Given the description of an element on the screen output the (x, y) to click on. 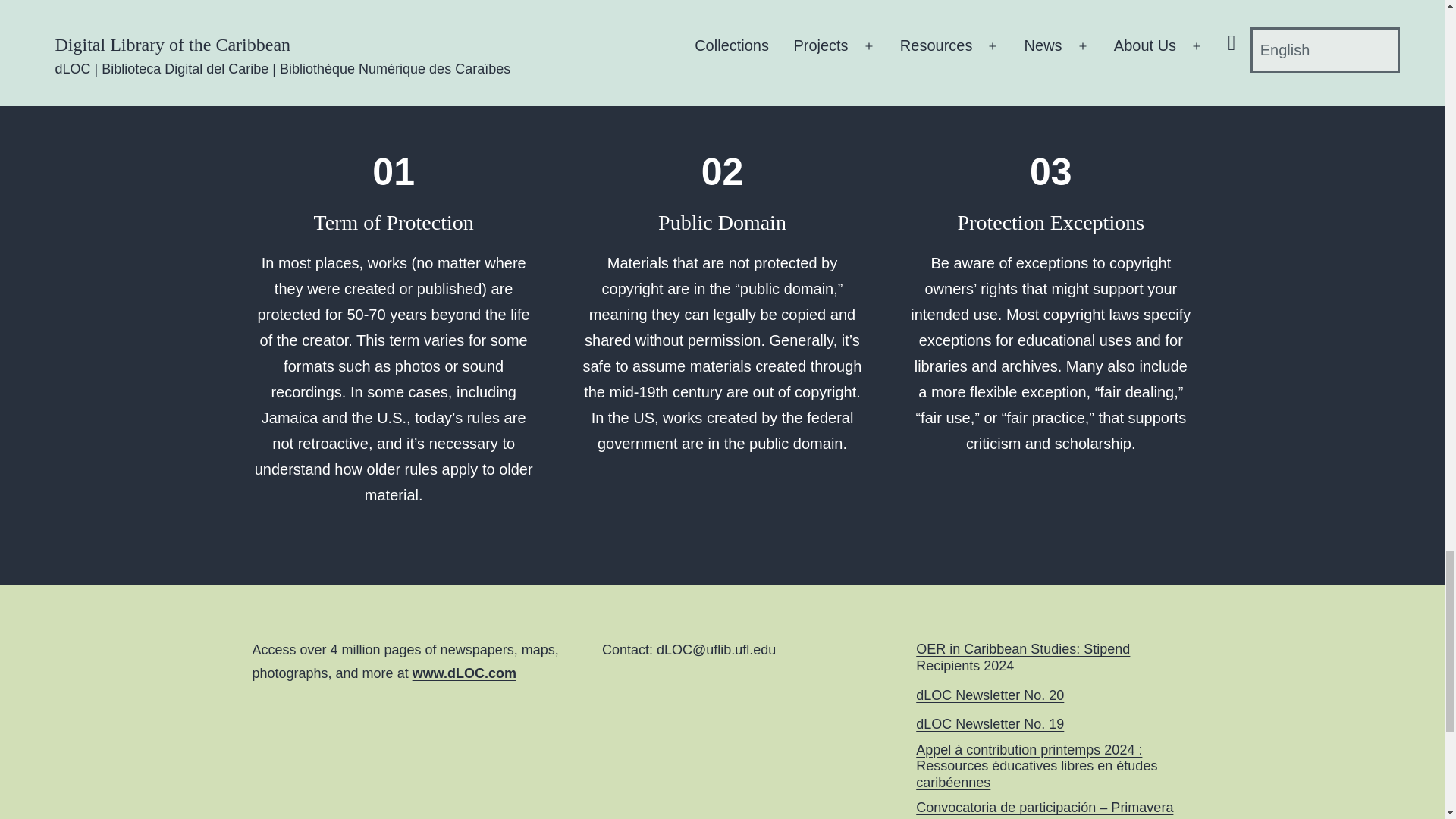
OER in Caribbean Studies: Stipend Recipients 2024 (1053, 657)
dLOC Newsletter No. 20 (989, 695)
dLOC Newsletter No. 19 (989, 724)
www.dLOC.com (464, 672)
